Given the description of an element on the screen output the (x, y) to click on. 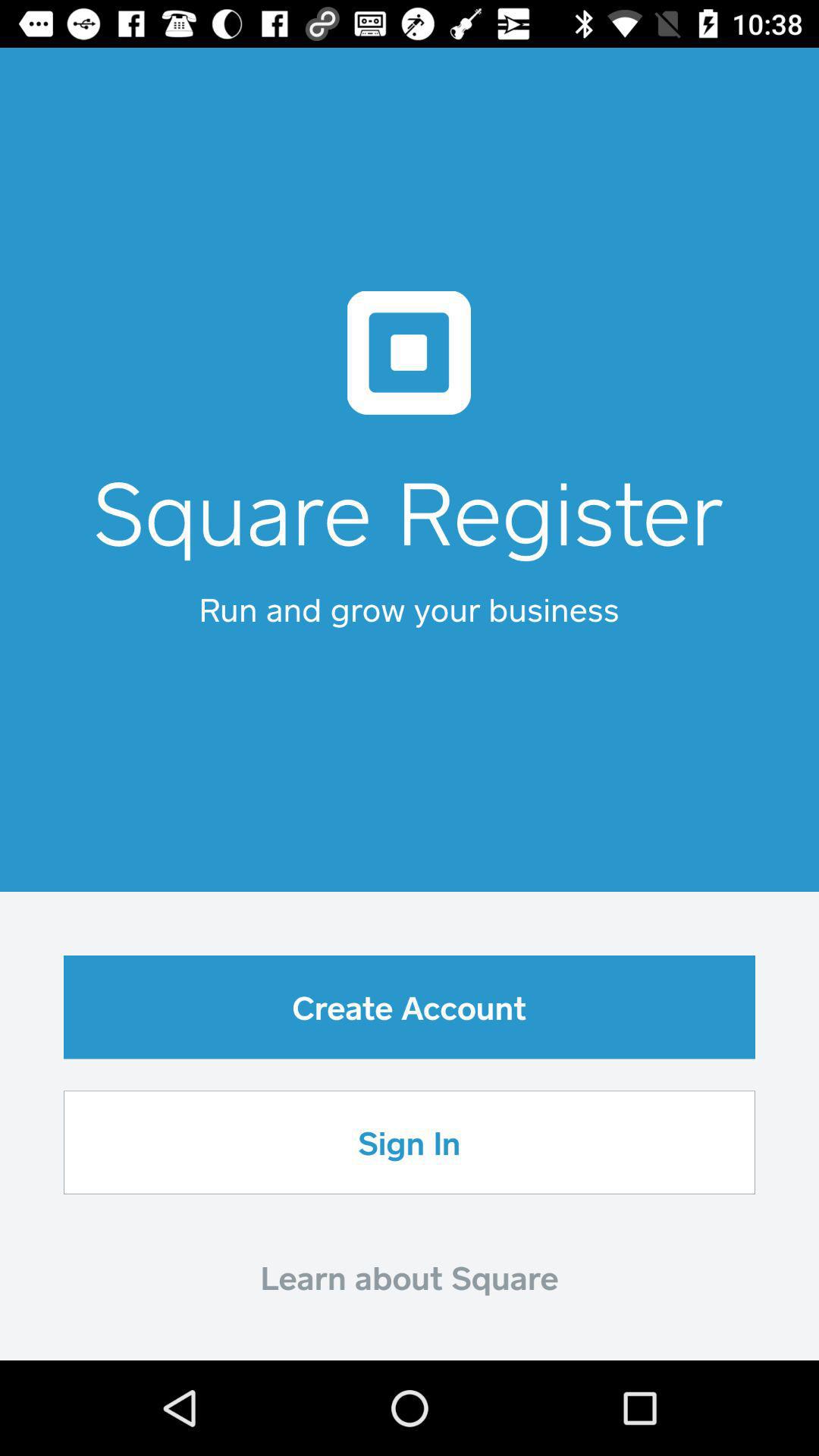
turn off icon above sign in icon (409, 1007)
